Given the description of an element on the screen output the (x, y) to click on. 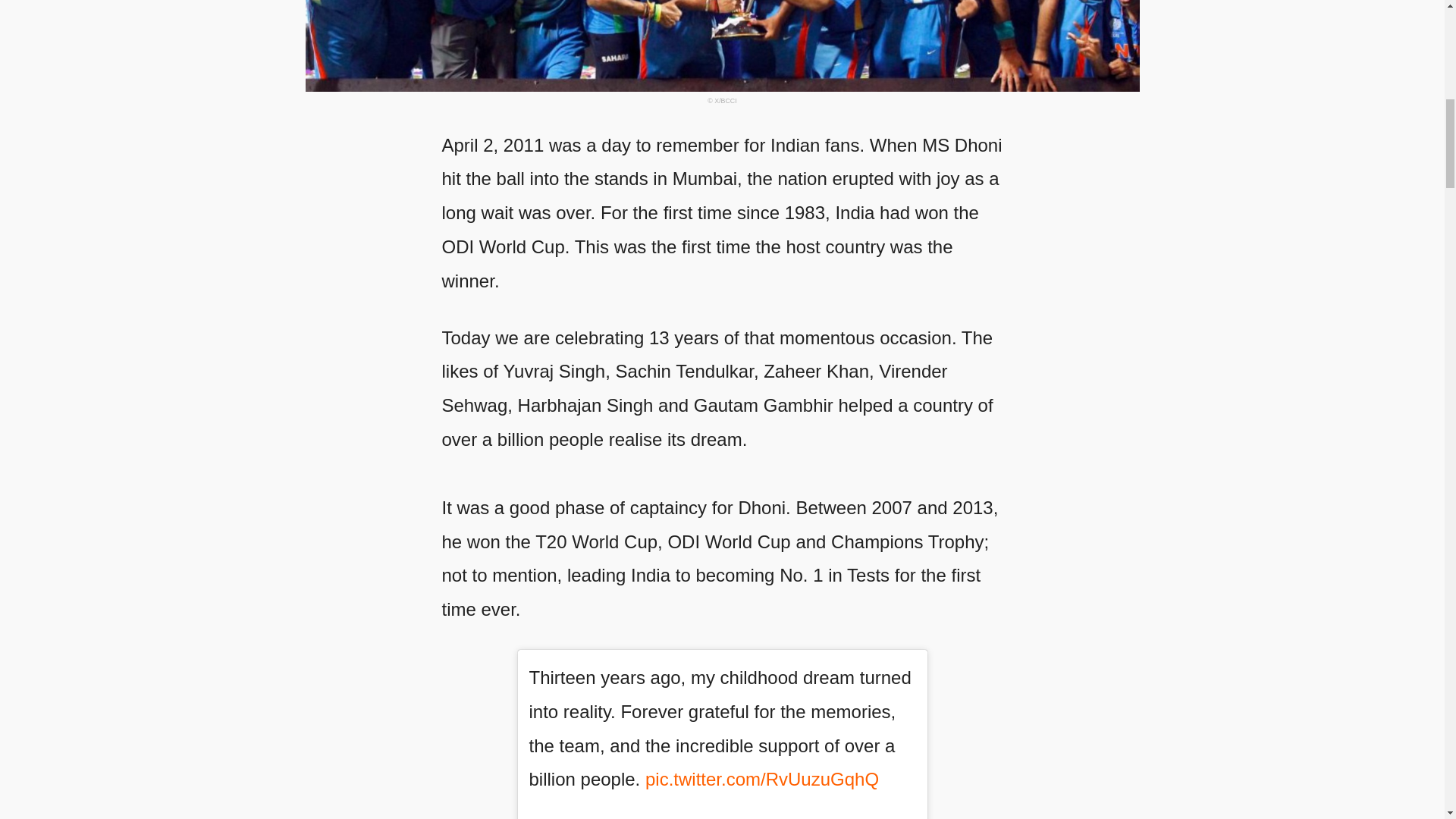
Indian cricket team 2011 World Cup win (721, 45)
